Given the description of an element on the screen output the (x, y) to click on. 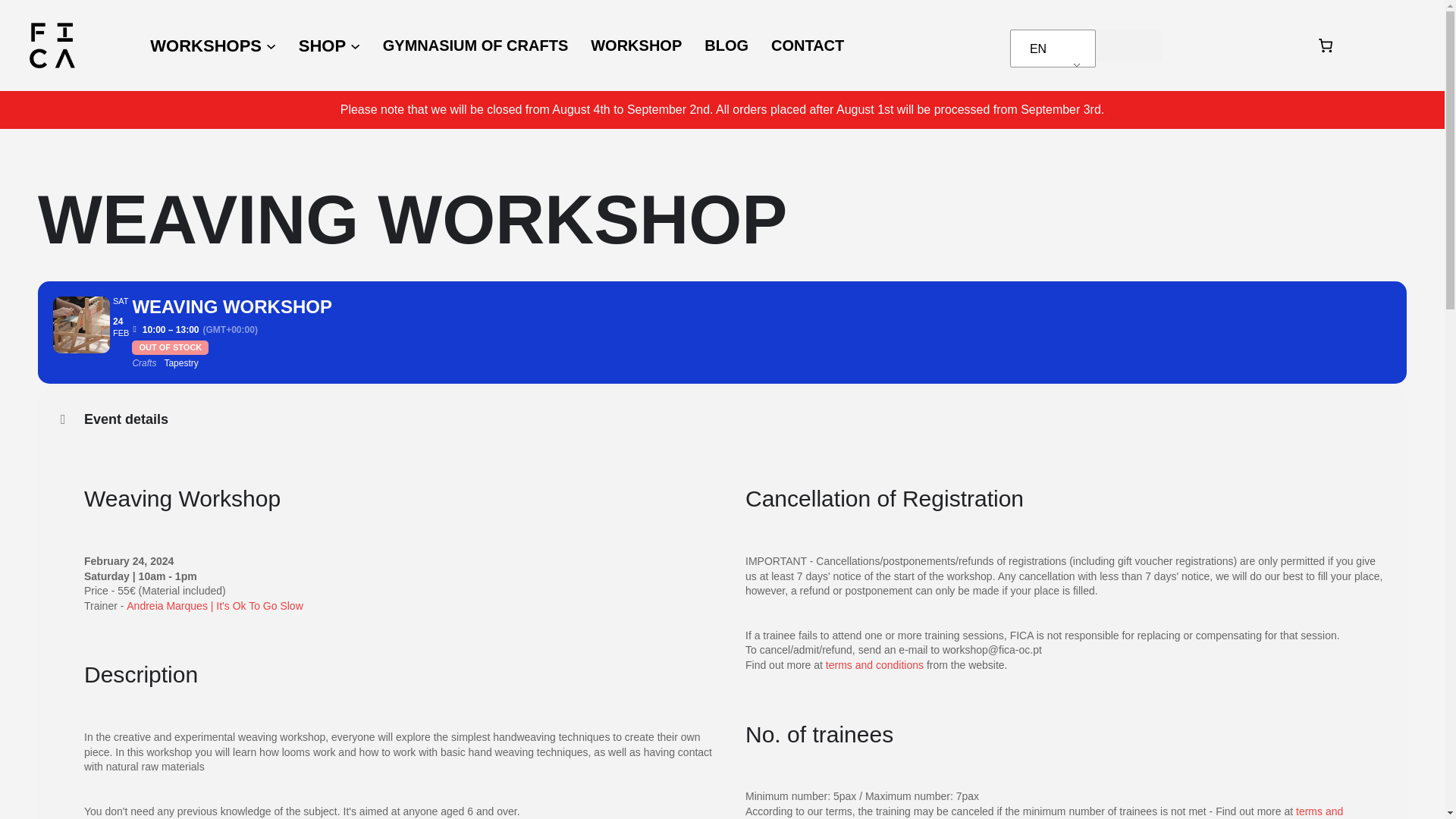
EN (1050, 48)
terms and conditions (1043, 812)
BLOG (726, 46)
WORKSHOPS (205, 46)
GYMNASIUM OF CRAFTS (474, 46)
WORKSHOP (636, 46)
English (1050, 48)
CONTACT (807, 46)
SHOP (322, 46)
terms and conditions (874, 664)
